Given the description of an element on the screen output the (x, y) to click on. 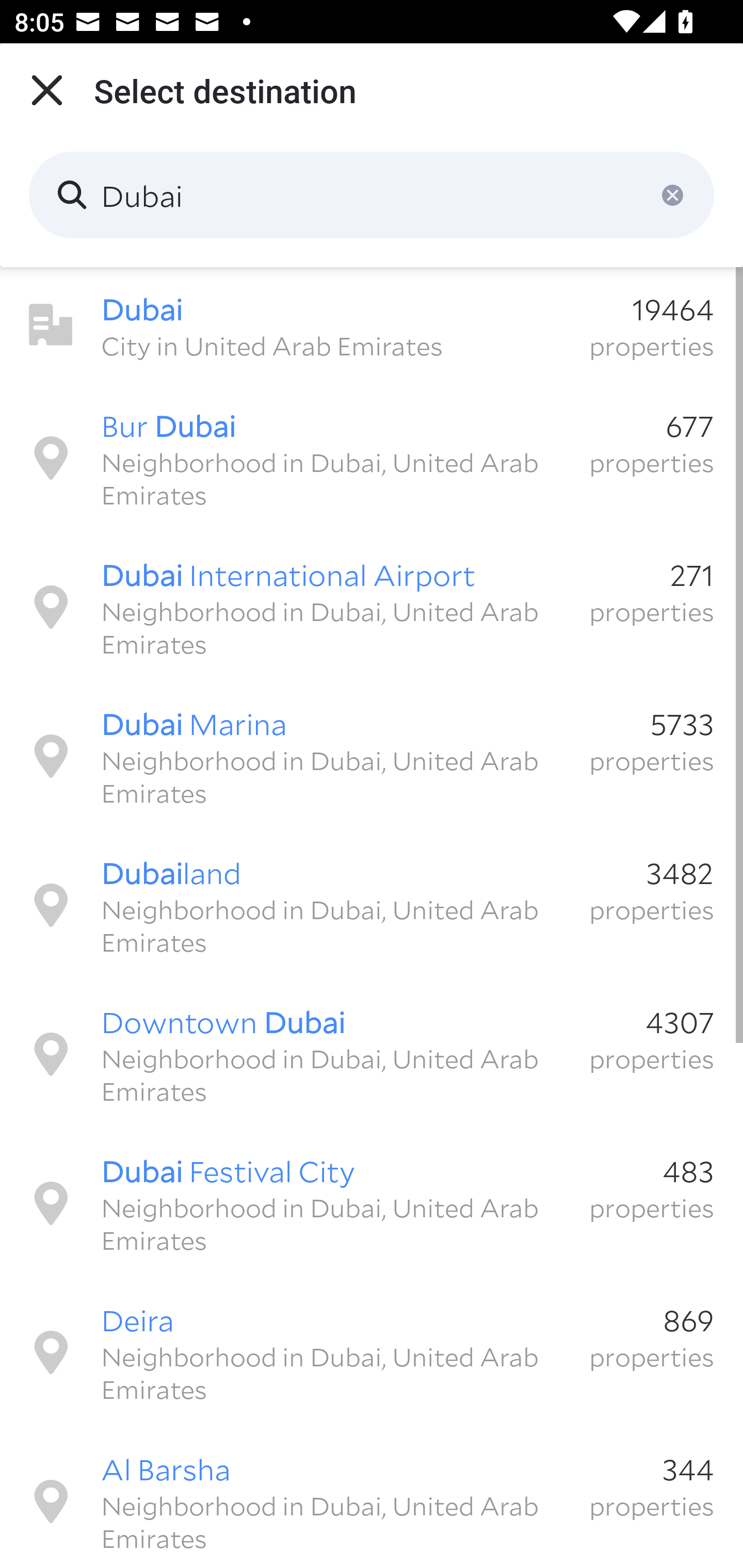
Dubai (371, 195)
